Given the description of an element on the screen output the (x, y) to click on. 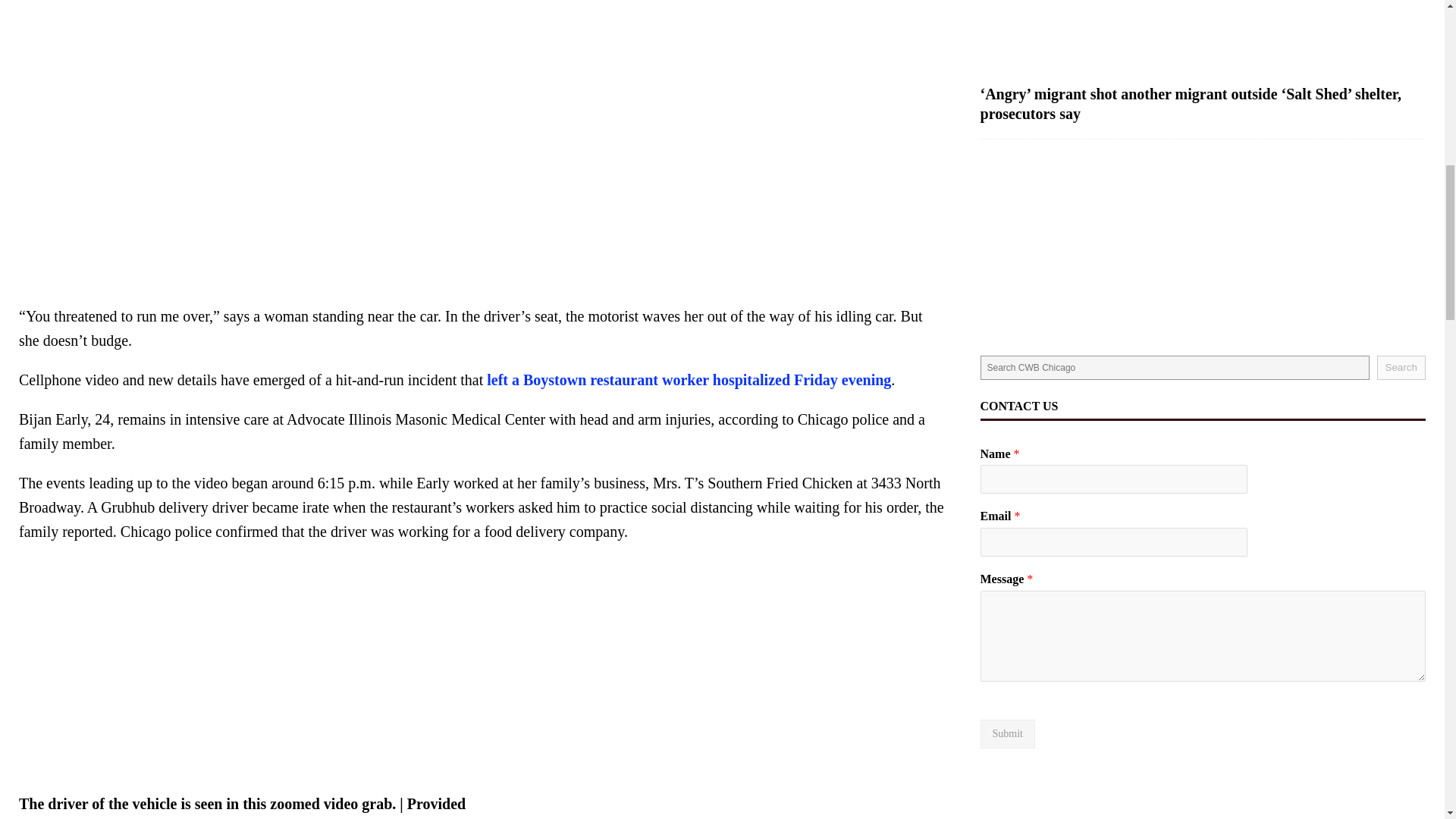
Search (1401, 367)
Submit (1007, 733)
